Given the description of an element on the screen output the (x, y) to click on. 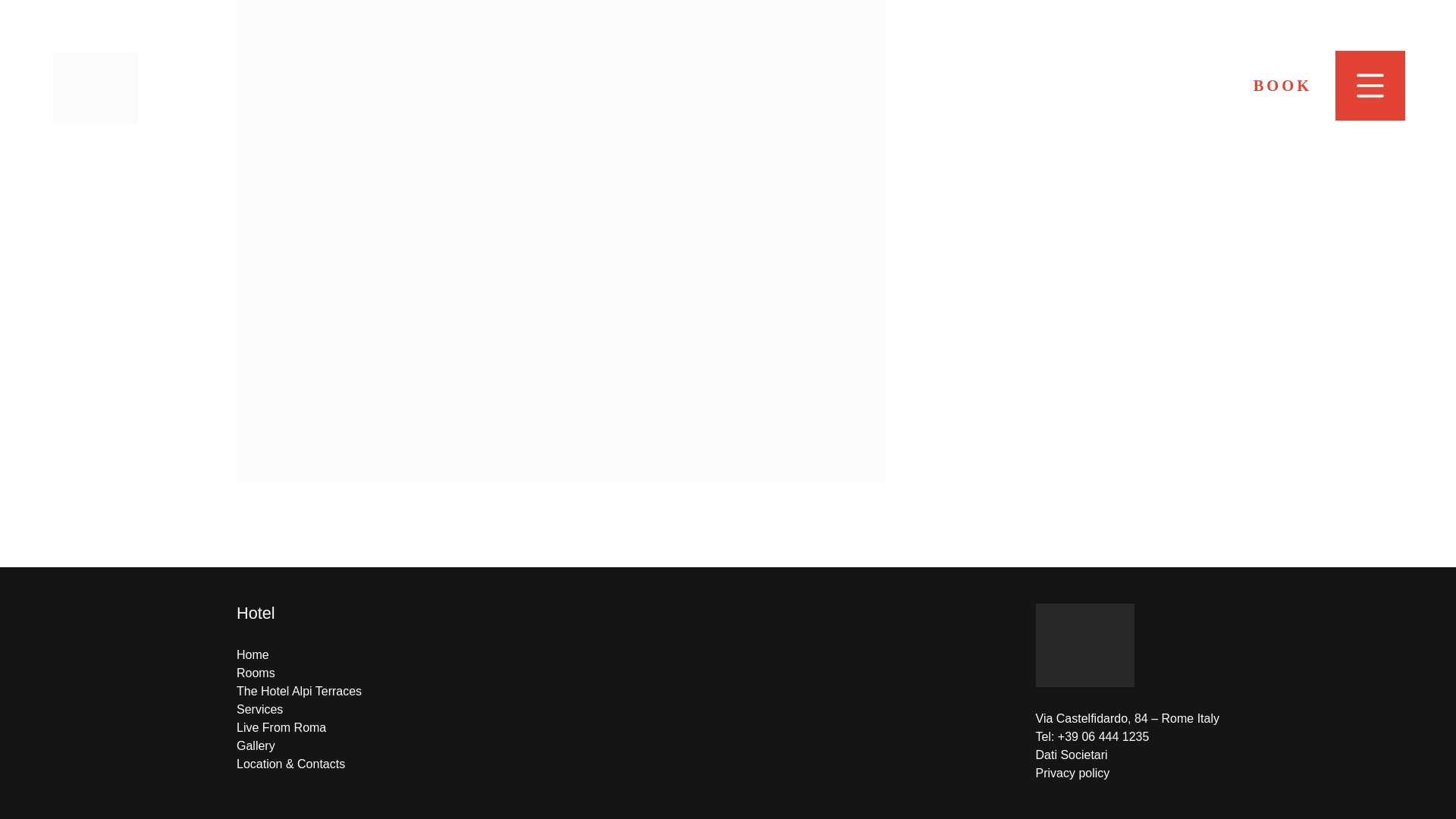
Gallery (255, 745)
Home (252, 654)
The Hotel Alpi Terraces (298, 690)
Privacy policy (1072, 772)
Dati Societari (1071, 754)
Live From Roma (280, 727)
Rooms (255, 672)
Services (258, 708)
